Given the description of an element on the screen output the (x, y) to click on. 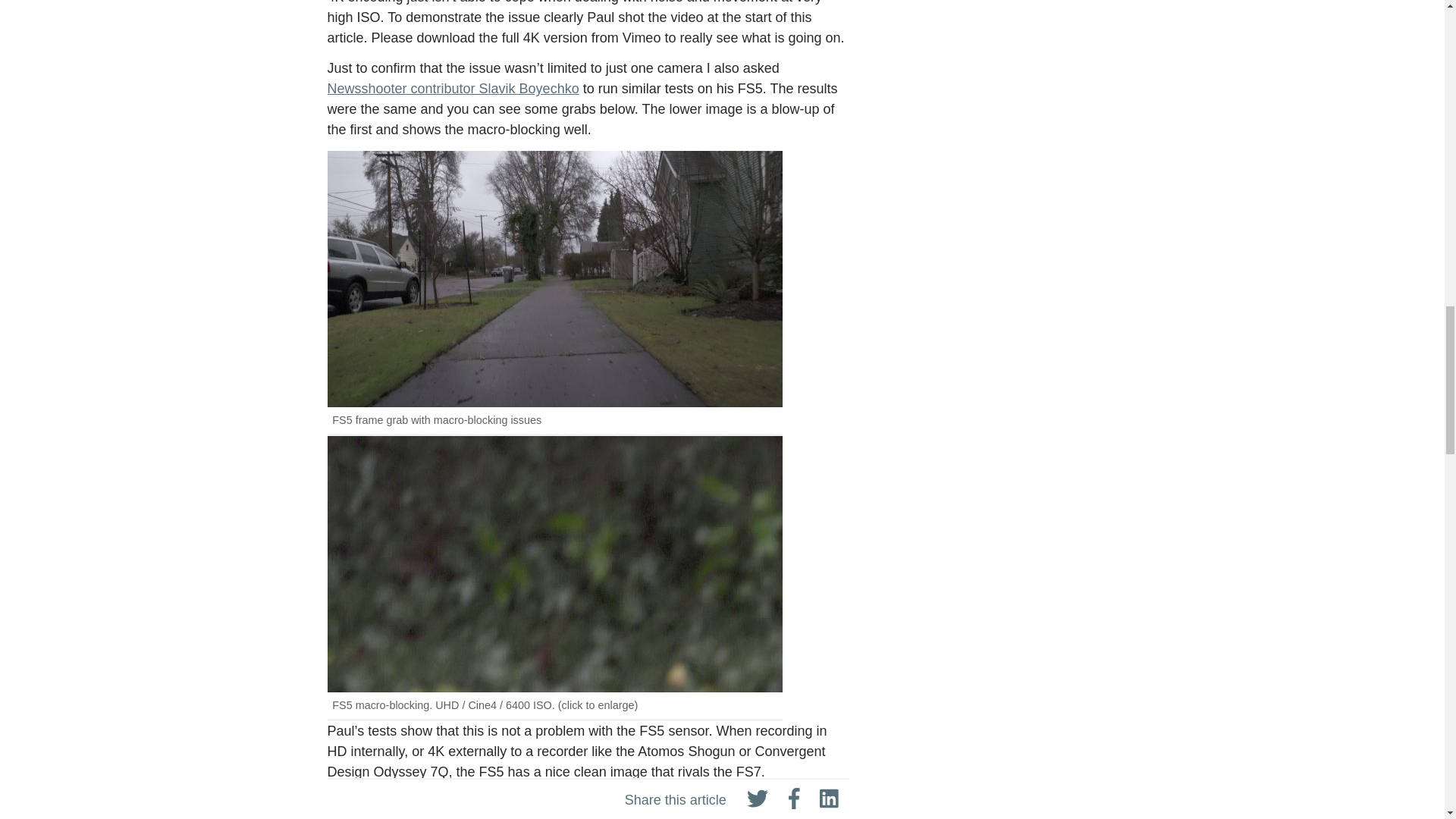
3rd party ad content (1018, 696)
Newsshooter contributor Slavik Boyechko (453, 88)
3rd party ad content (1018, 53)
3rd party ad content (1018, 815)
